Given the description of an element on the screen output the (x, y) to click on. 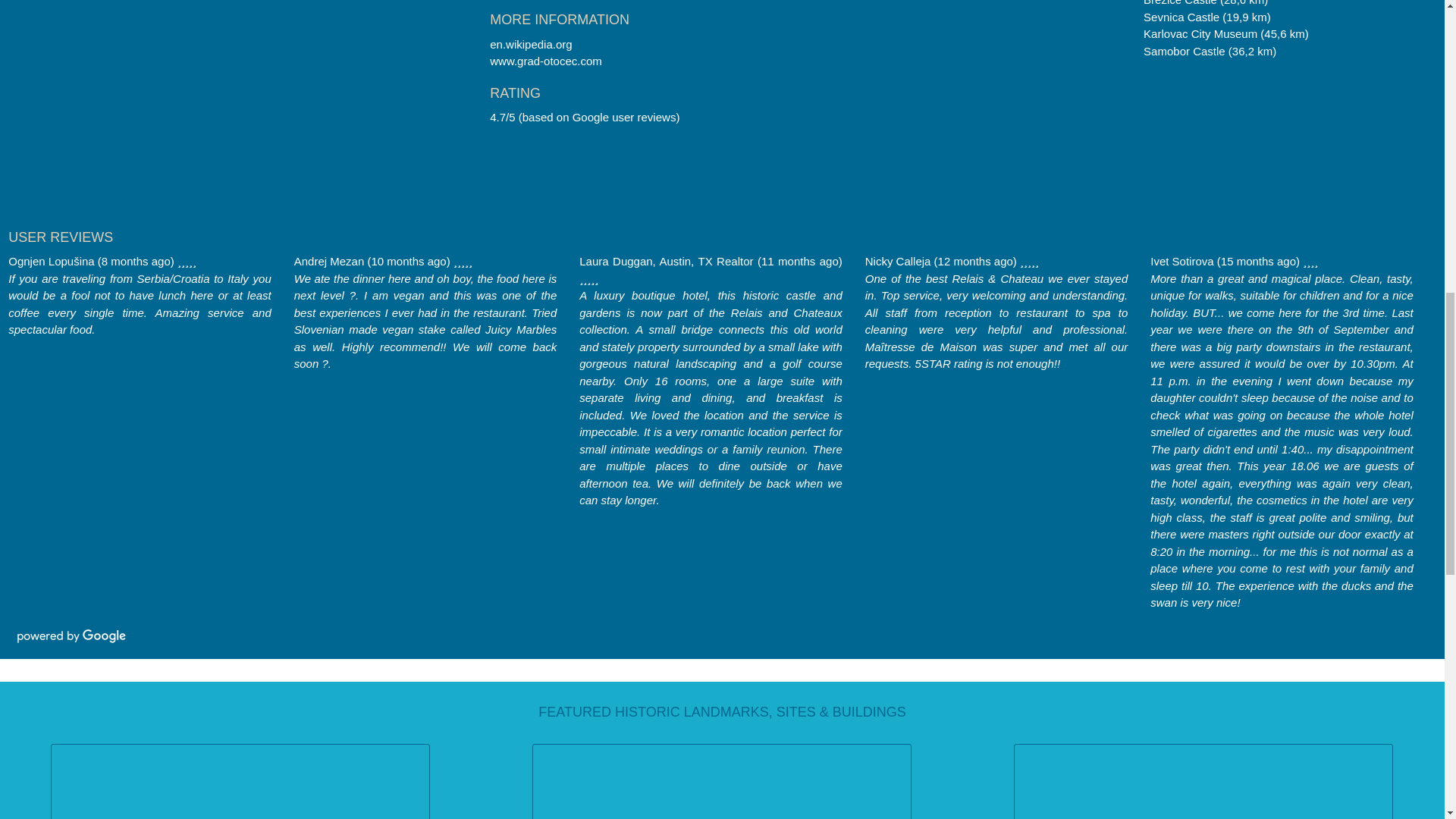
Historical Gems of Costa Verde (1203, 781)
www.grad-otocec.com (545, 60)
en.wikipedia.org (530, 43)
Exploring the History of Northern Poland (239, 781)
Discovering Slovenia's Historic Wonders (721, 781)
